Given the description of an element on the screen output the (x, y) to click on. 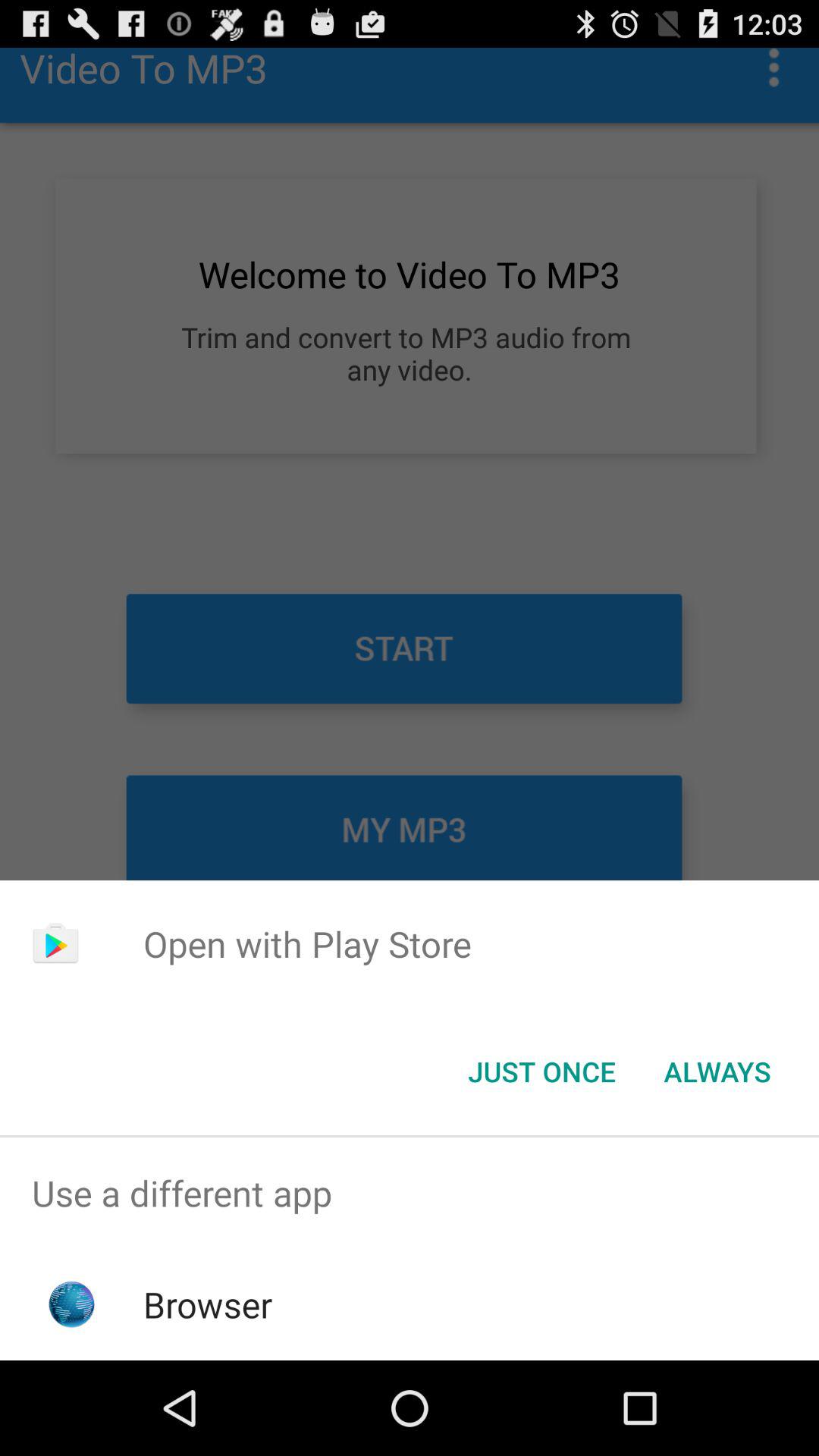
open the item next to the always (541, 1071)
